Given the description of an element on the screen output the (x, y) to click on. 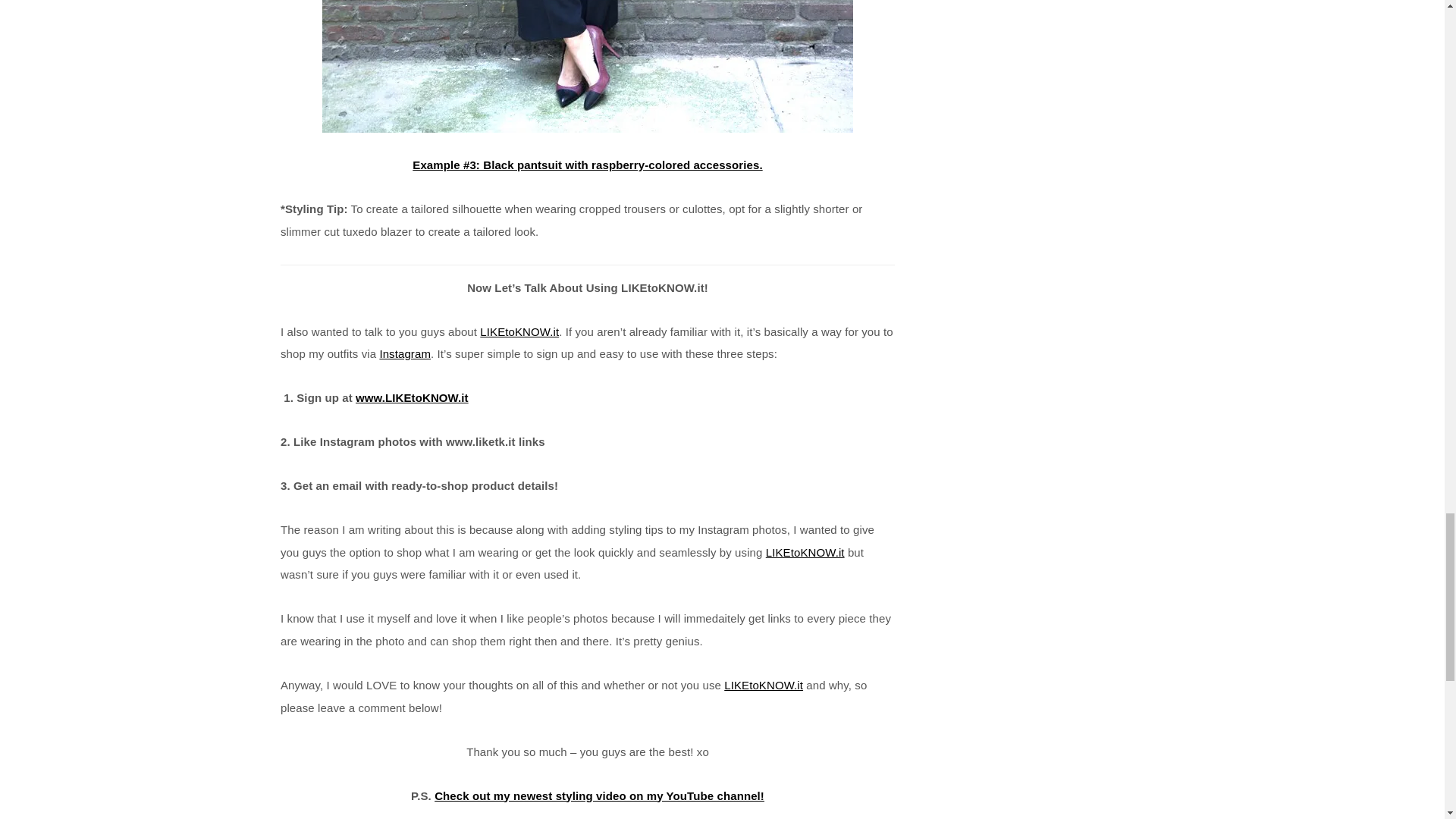
Instagram (404, 353)
LIKEtoKNOW.it (519, 331)
LIKEtoKNOW.it (763, 684)
www.LIKEtoKNOW.it (411, 397)
LIKEtoKNOW.it (804, 552)
